Given the description of an element on the screen output the (x, y) to click on. 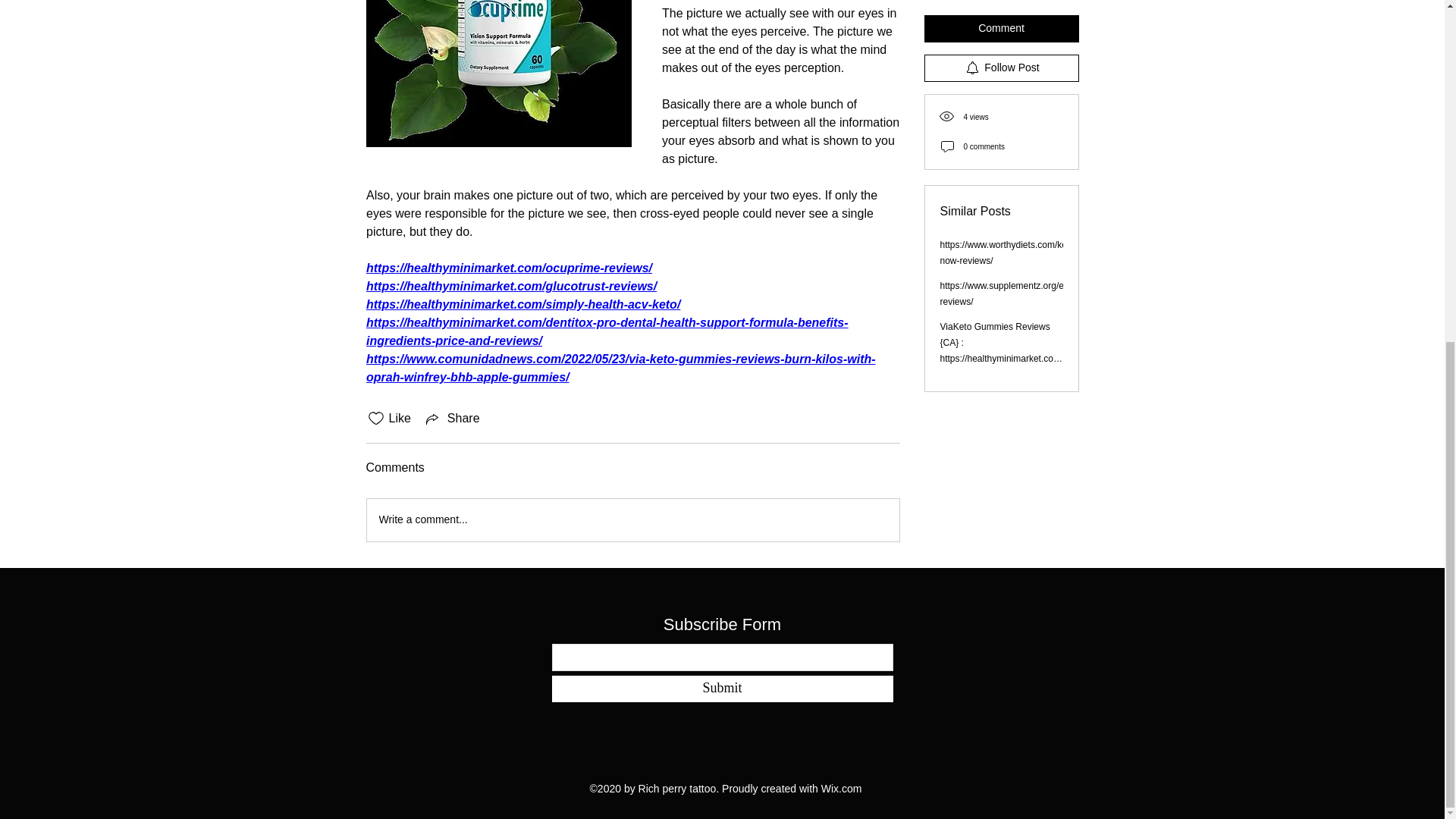
Write a comment... (632, 519)
Submit (722, 688)
Share (451, 418)
